Given the description of an element on the screen output the (x, y) to click on. 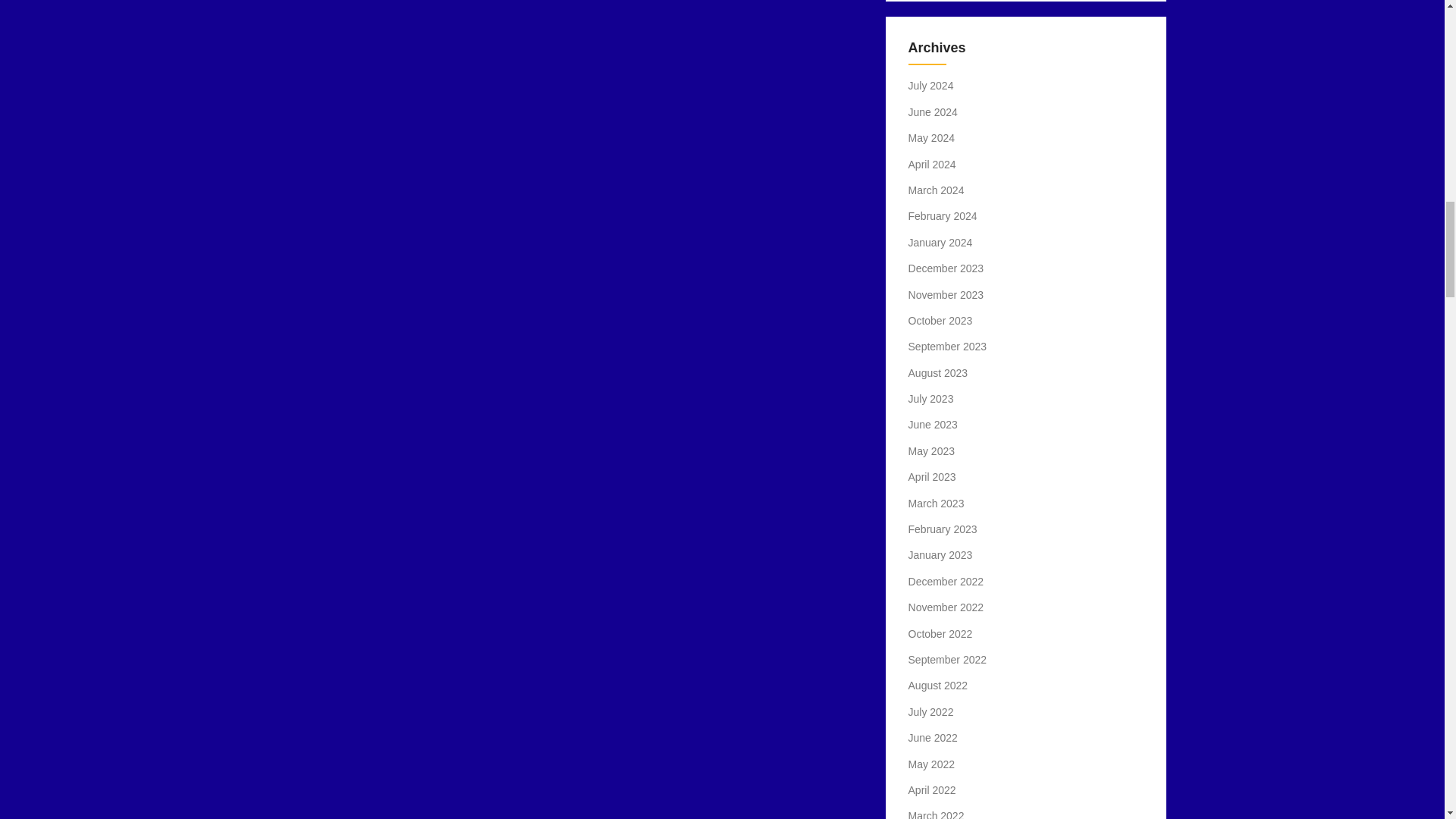
June 2024 (933, 111)
February 2024 (942, 215)
July 2024 (930, 85)
March 2024 (935, 190)
May 2024 (931, 137)
April 2024 (932, 164)
